Given the description of an element on the screen output the (x, y) to click on. 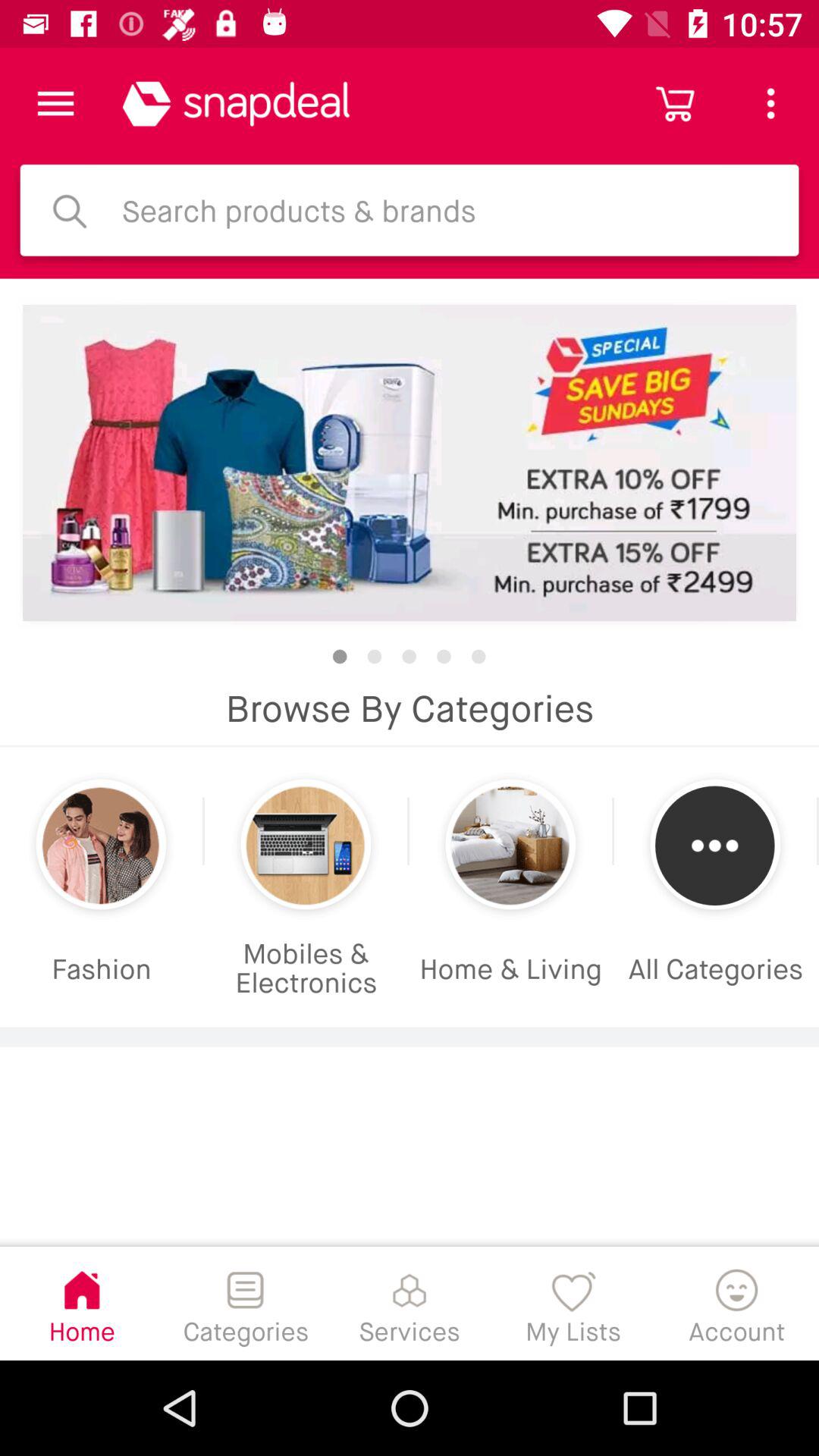
choose item next to the services icon (573, 1303)
